Given the description of an element on the screen output the (x, y) to click on. 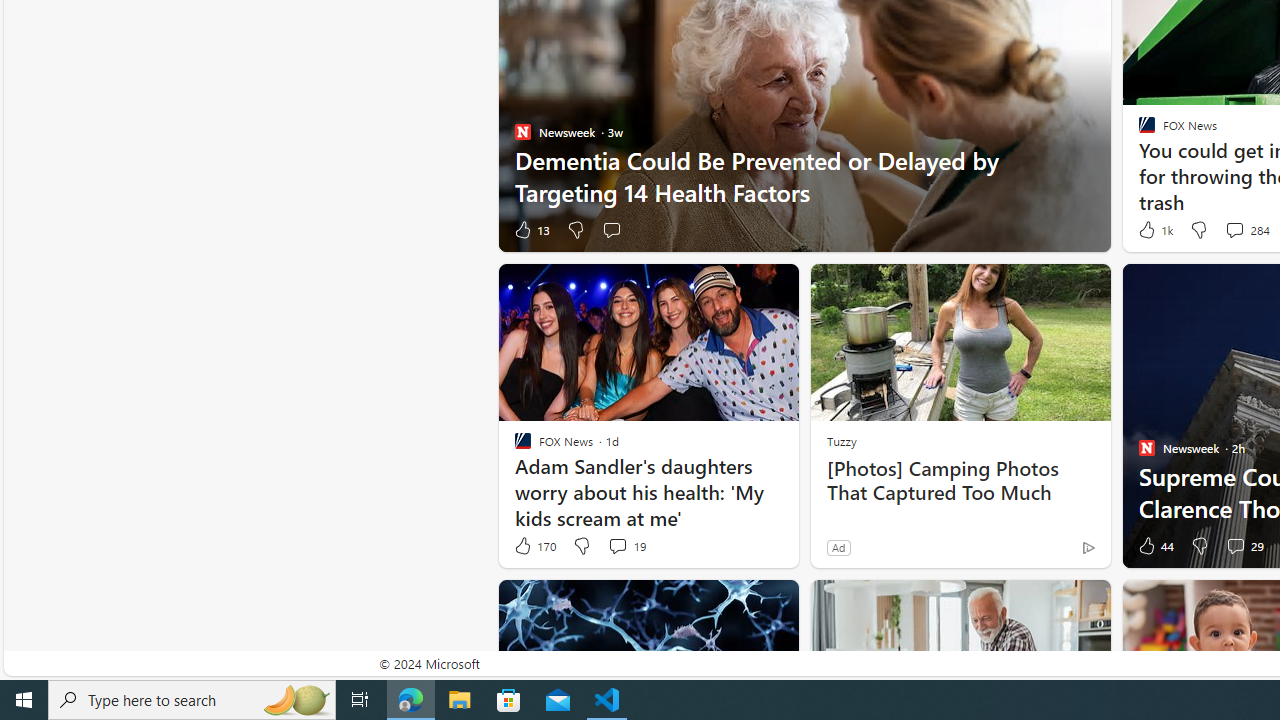
[Photos] Camping Photos That Captured Too Much (959, 480)
170 Like (534, 546)
View comments 29 Comment (1234, 545)
13 Like (531, 230)
Hide this story (1050, 603)
View comments 284 Comment (1246, 230)
View comments 284 Comment (1234, 229)
1k Like (1154, 230)
Tuzzy (841, 440)
